Given the description of an element on the screen output the (x, y) to click on. 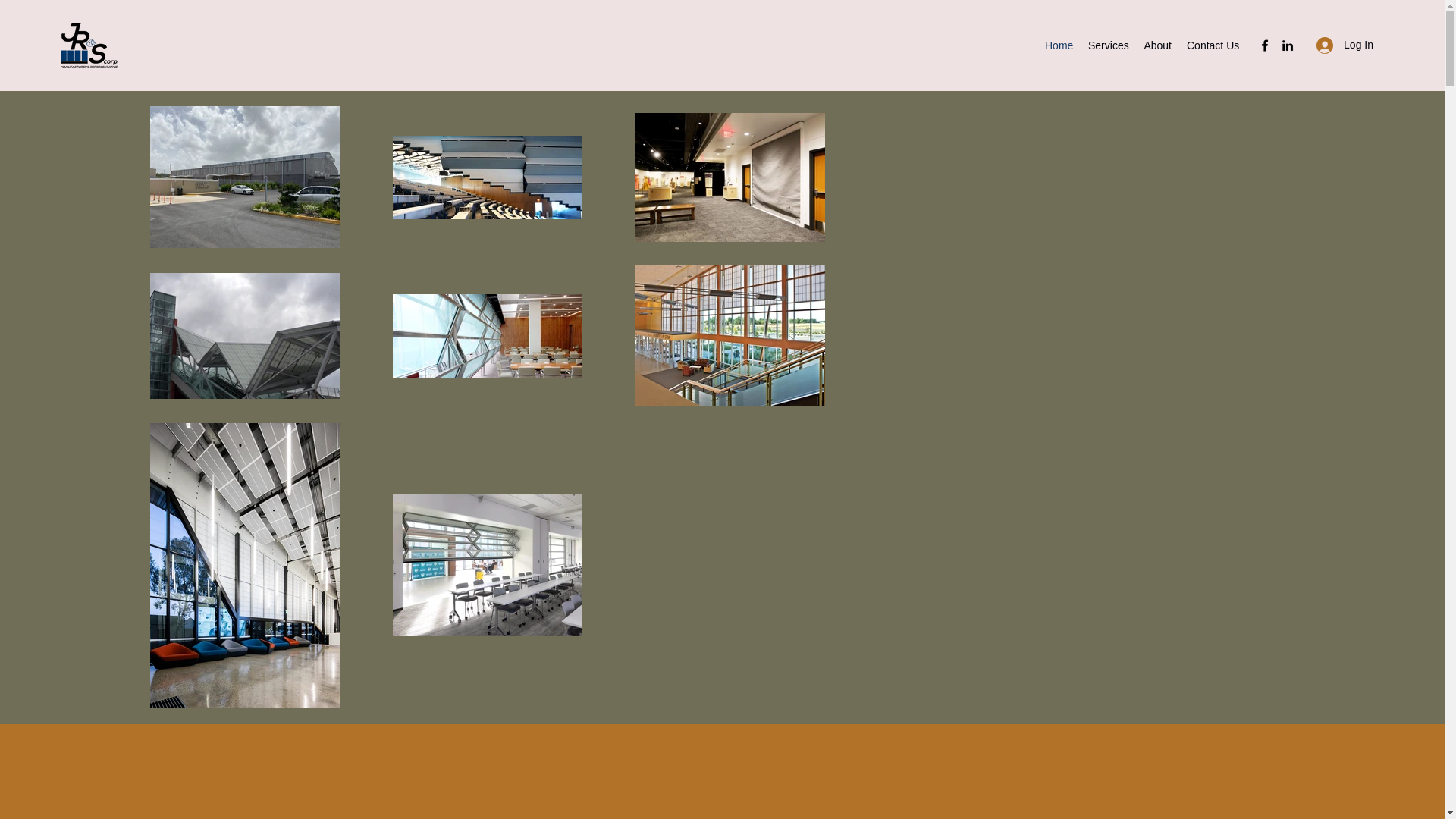
Home (1058, 45)
About (1157, 45)
Log In (1345, 44)
Contact Us (1212, 45)
Services (1107, 45)
